Given the description of an element on the screen output the (x, y) to click on. 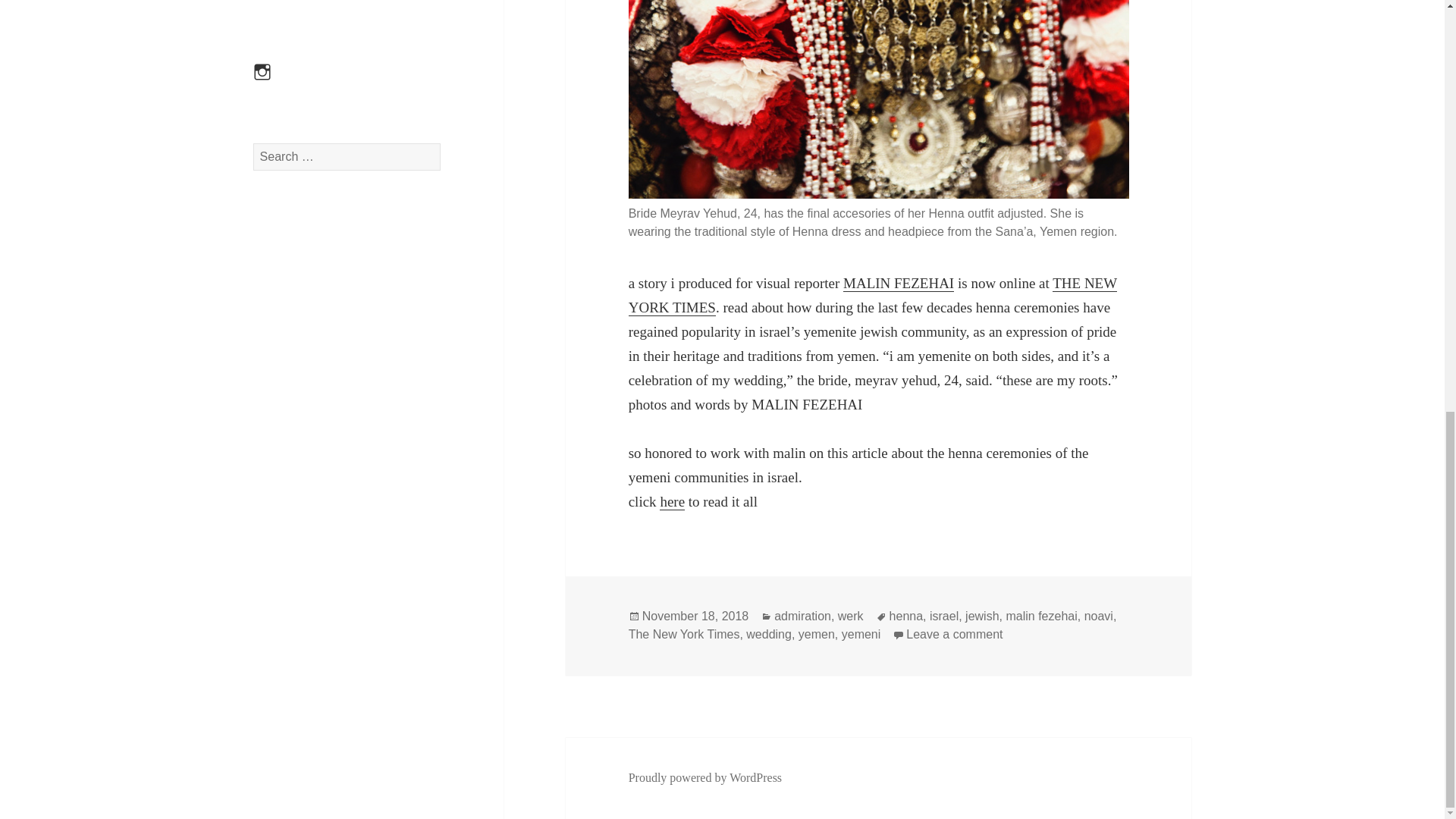
yemen (815, 634)
wedding (954, 634)
werk (768, 634)
Proudly powered by WordPress (850, 616)
THE NEW YORK TIMES (704, 777)
malin fezehai (872, 295)
MALIN FEZEHAI (1041, 616)
noavi (898, 283)
here (1098, 616)
henna (671, 501)
admiration (906, 616)
The New York Times (802, 616)
yemeni (683, 634)
jewish (860, 634)
